Given the description of an element on the screen output the (x, y) to click on. 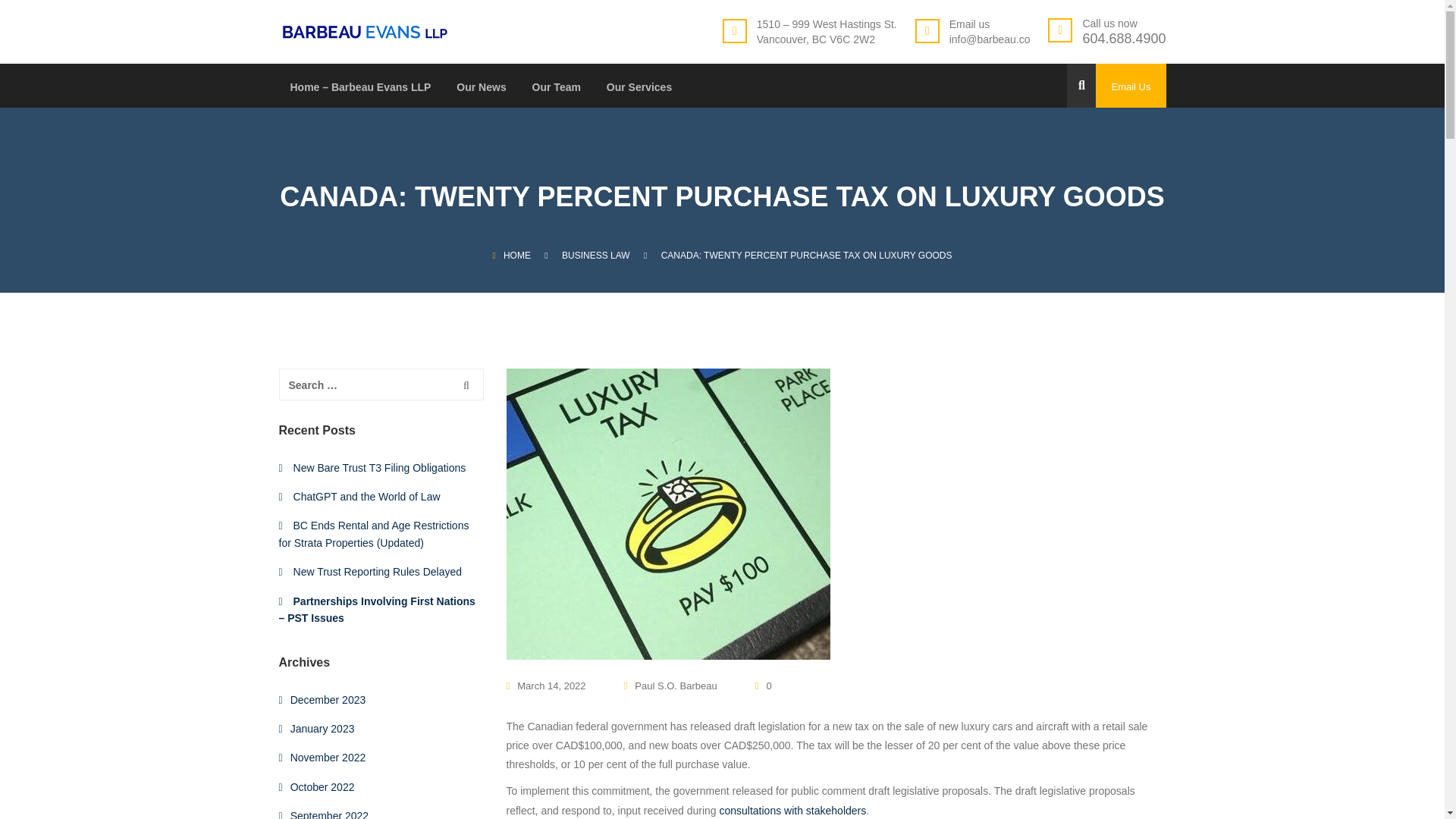
January 2023 (322, 728)
Paul S.O. Barbeau (670, 686)
Search (466, 384)
Email Us (1131, 85)
Our Team (556, 94)
BUSINESS LAW (596, 255)
Search (466, 384)
Our Services (639, 94)
Search (466, 384)
October 2022 (322, 787)
